Given the description of an element on the screen output the (x, y) to click on. 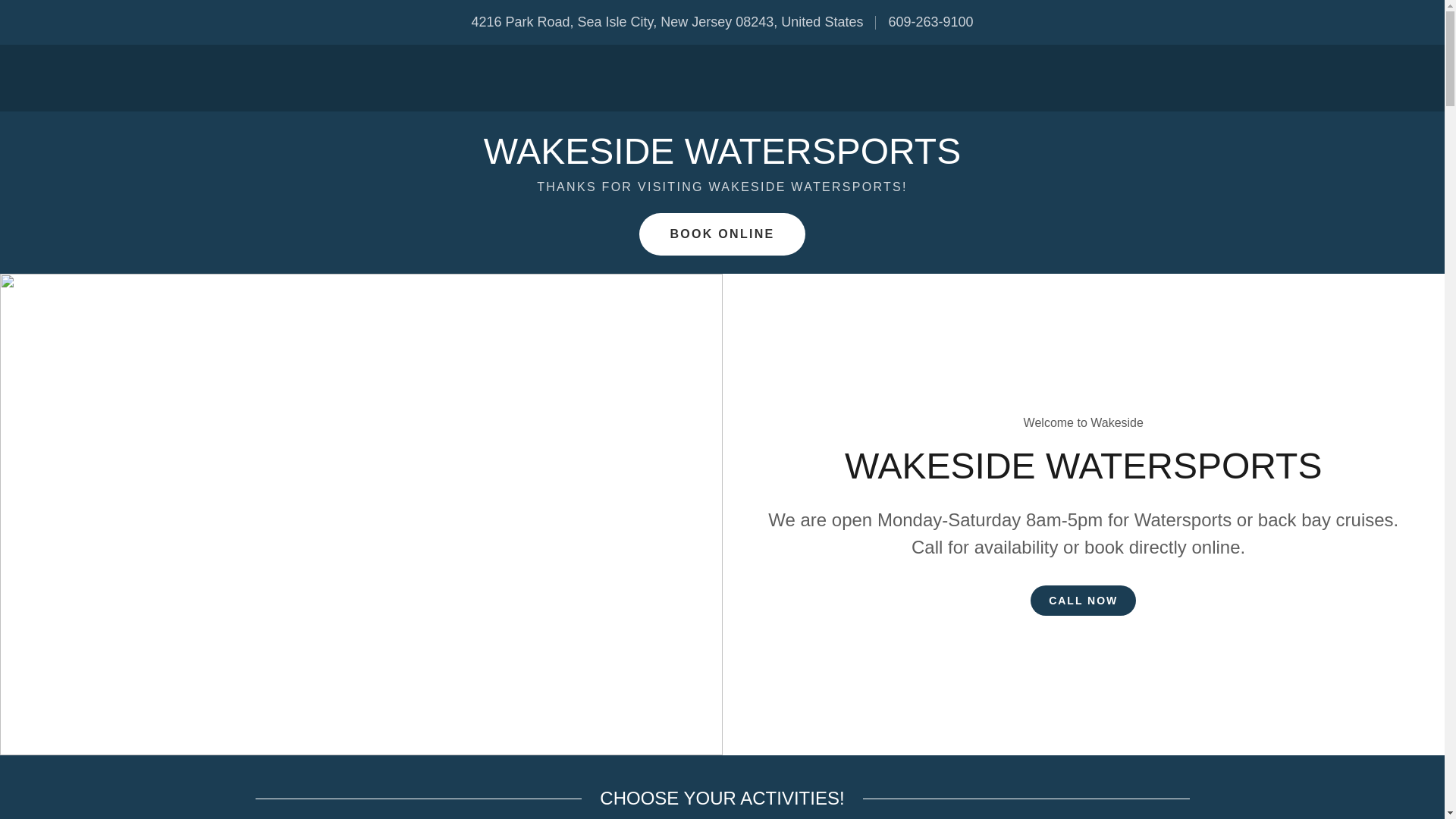
Wakeside Watersports (721, 159)
WAKESIDE WATERSPORTS (721, 159)
BOOK ONLINE (722, 233)
CALL NOW (1082, 600)
609-263-9100 (930, 21)
